Given the description of an element on the screen output the (x, y) to click on. 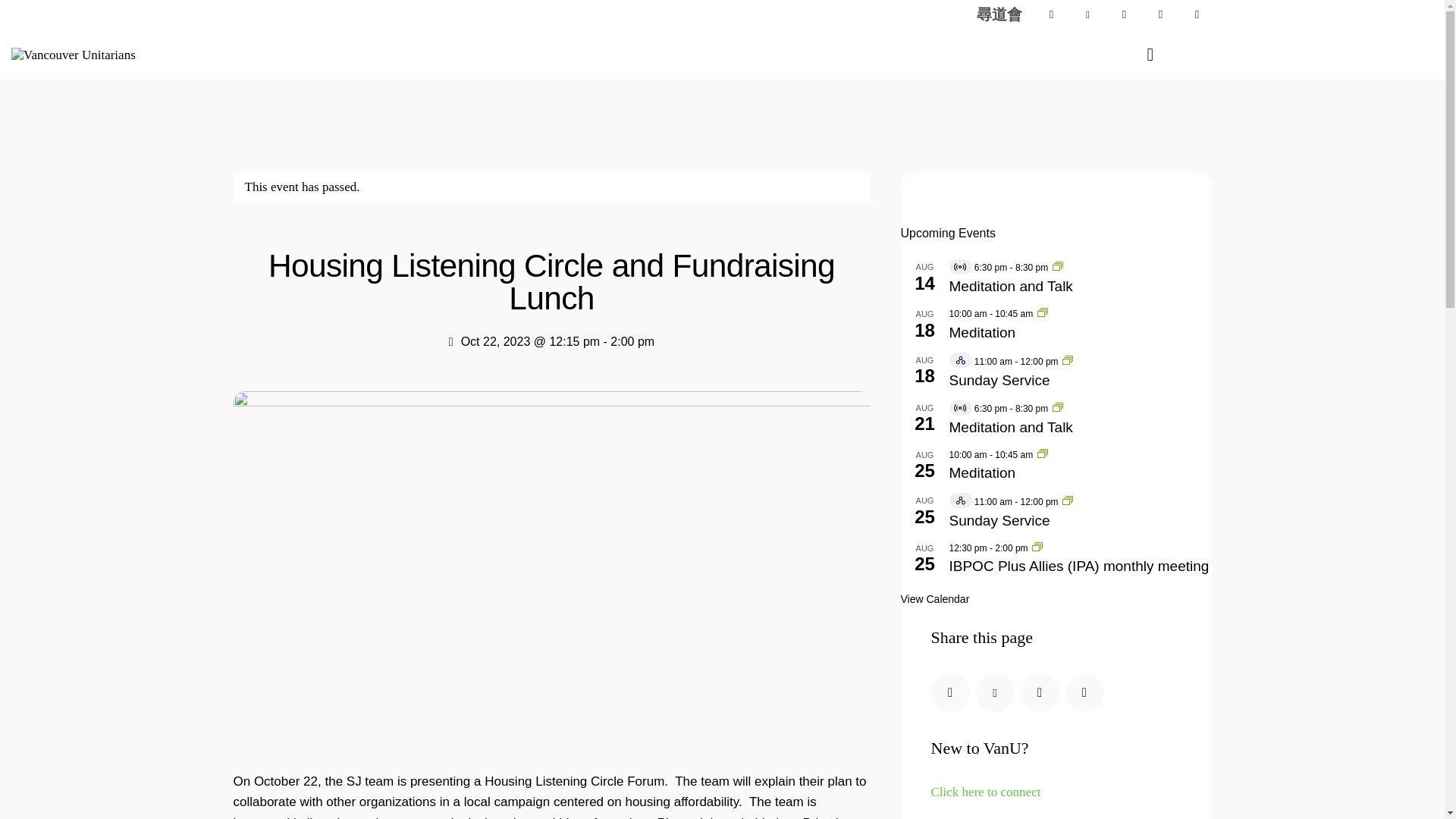
Virtual (959, 266)
Hybrid (960, 359)
Virtual Event (960, 359)
Event Series (1057, 267)
Virtual Event (959, 407)
Event Series (1042, 452)
Event Series (1067, 500)
Event Series (1057, 406)
Meditation (1080, 332)
Meditation and Talk (1080, 286)
